Given the description of an element on the screen output the (x, y) to click on. 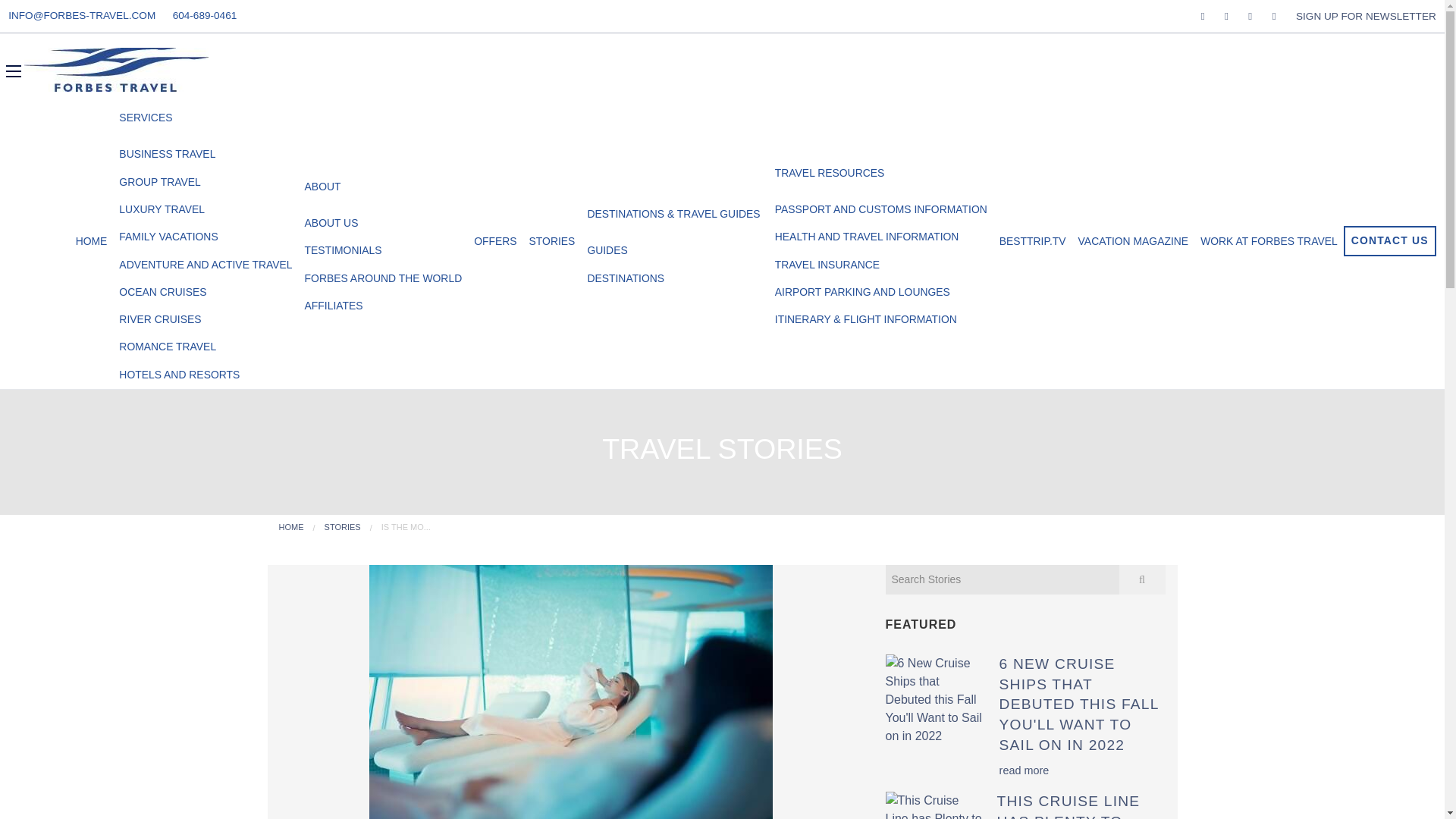
BESTTRIP.TV (1031, 240)
604-689-0461 (203, 15)
PASSPORT AND CUSTOMS INFORMATION (880, 209)
BUSINESS TRAVEL (205, 154)
TRAVEL INSURANCE (880, 264)
HOME (91, 240)
HEALTH AND TRAVEL INFORMATION (880, 236)
TESTIMONIALS (383, 250)
GUIDES (674, 250)
HOTELS AND RESORTS (205, 375)
